Given the description of an element on the screen output the (x, y) to click on. 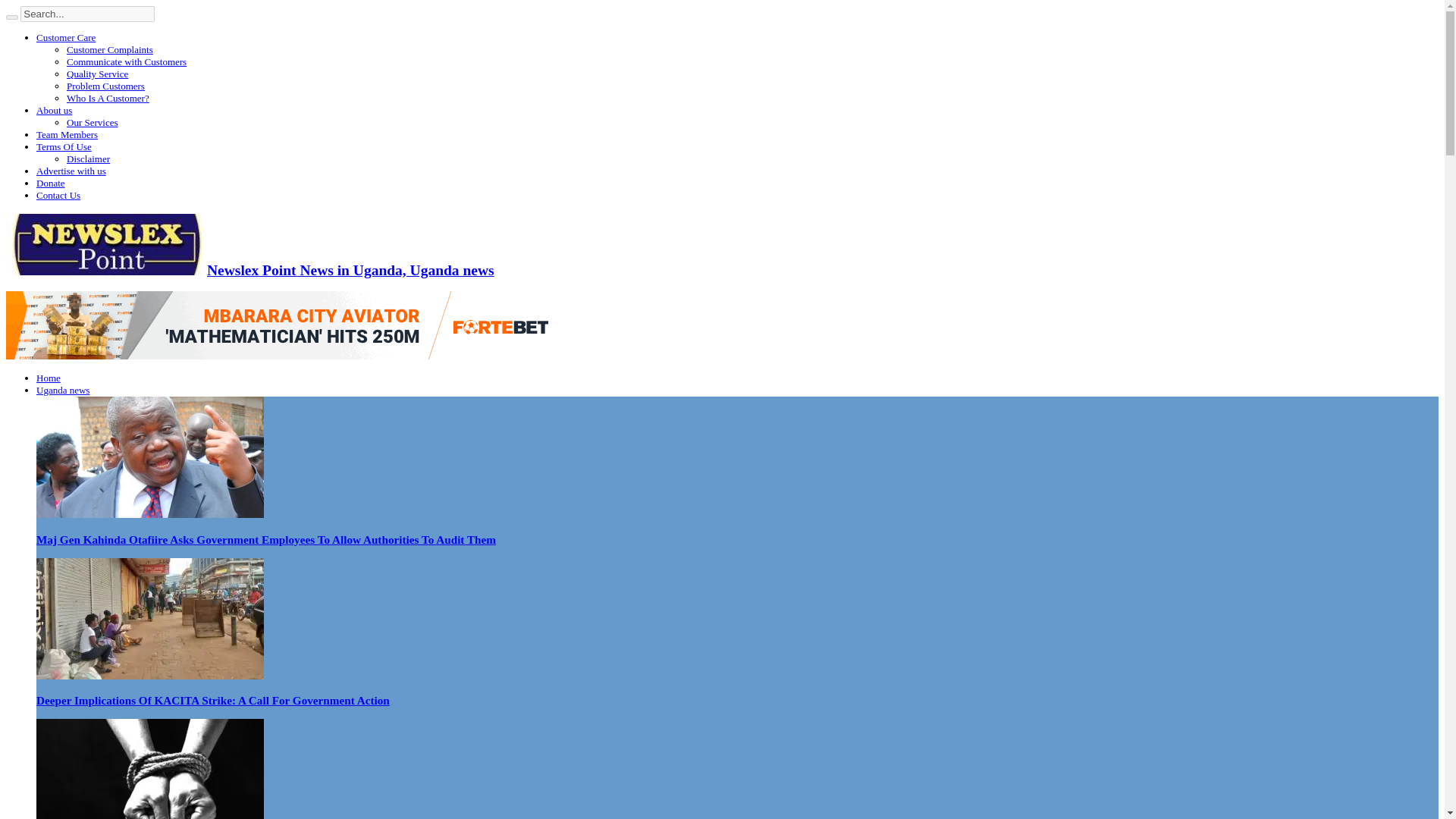
Quality Service (97, 73)
Donate (50, 183)
Terms Of Use (63, 146)
Search... (87, 13)
Team Members (66, 134)
Our Services (91, 122)
Customer Complaints (109, 49)
Contact Us (58, 194)
Who Is A Customer? (107, 98)
Customer Care (66, 37)
Problem Customers (105, 85)
About us (53, 110)
